Given the description of an element on the screen output the (x, y) to click on. 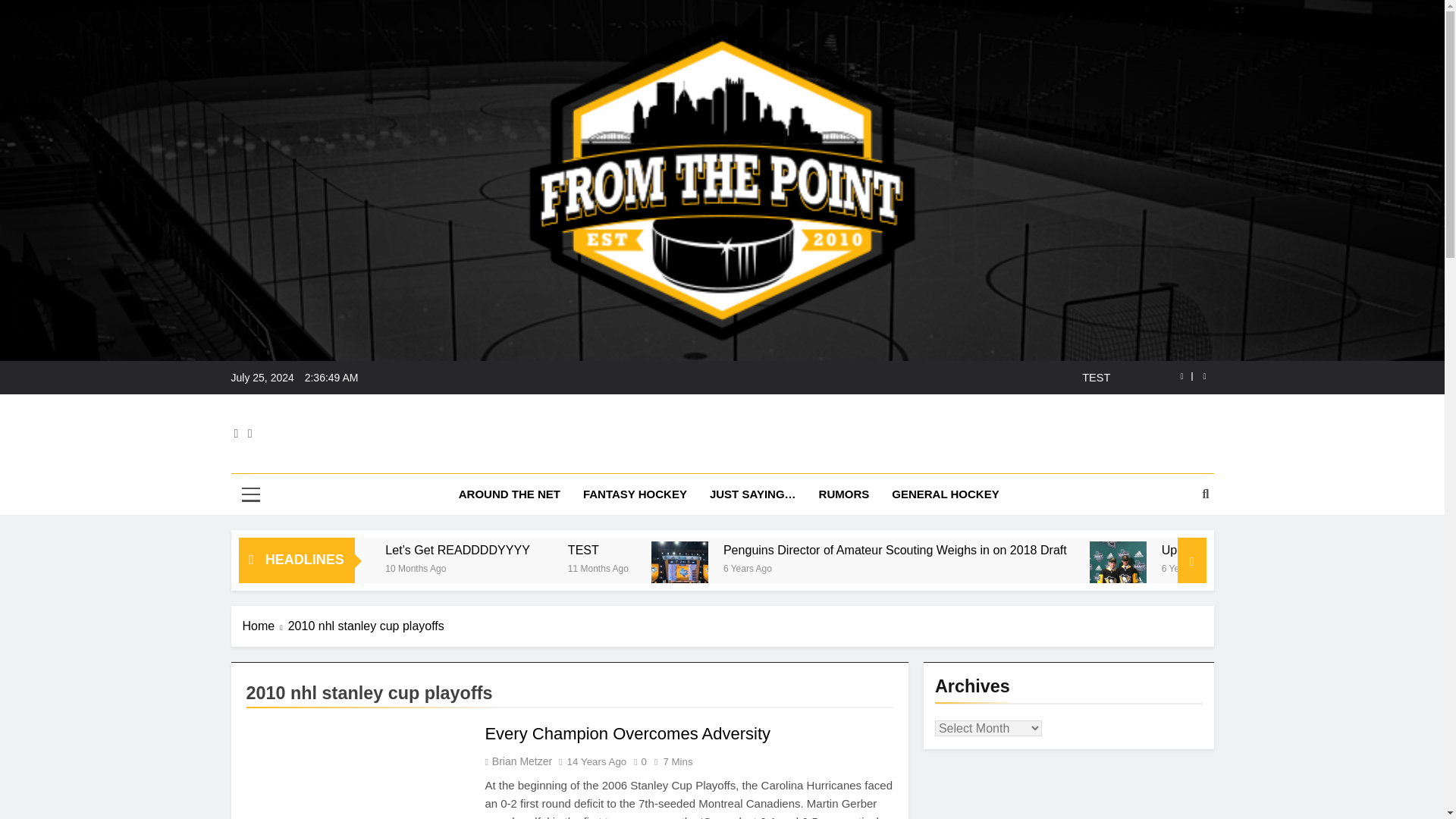
AROUND THE NET (509, 494)
From The Point (596, 450)
10 Months Ago (577, 567)
6 Years Ago (900, 567)
10 Months Ago (417, 567)
FANTASY HOCKEY (635, 494)
RUMORS (844, 494)
GENERAL HOCKEY (945, 494)
TEST (817, 377)
TEST (720, 549)
TEST (758, 549)
TEST (817, 377)
11 Months Ago (756, 567)
